Given the description of an element on the screen output the (x, y) to click on. 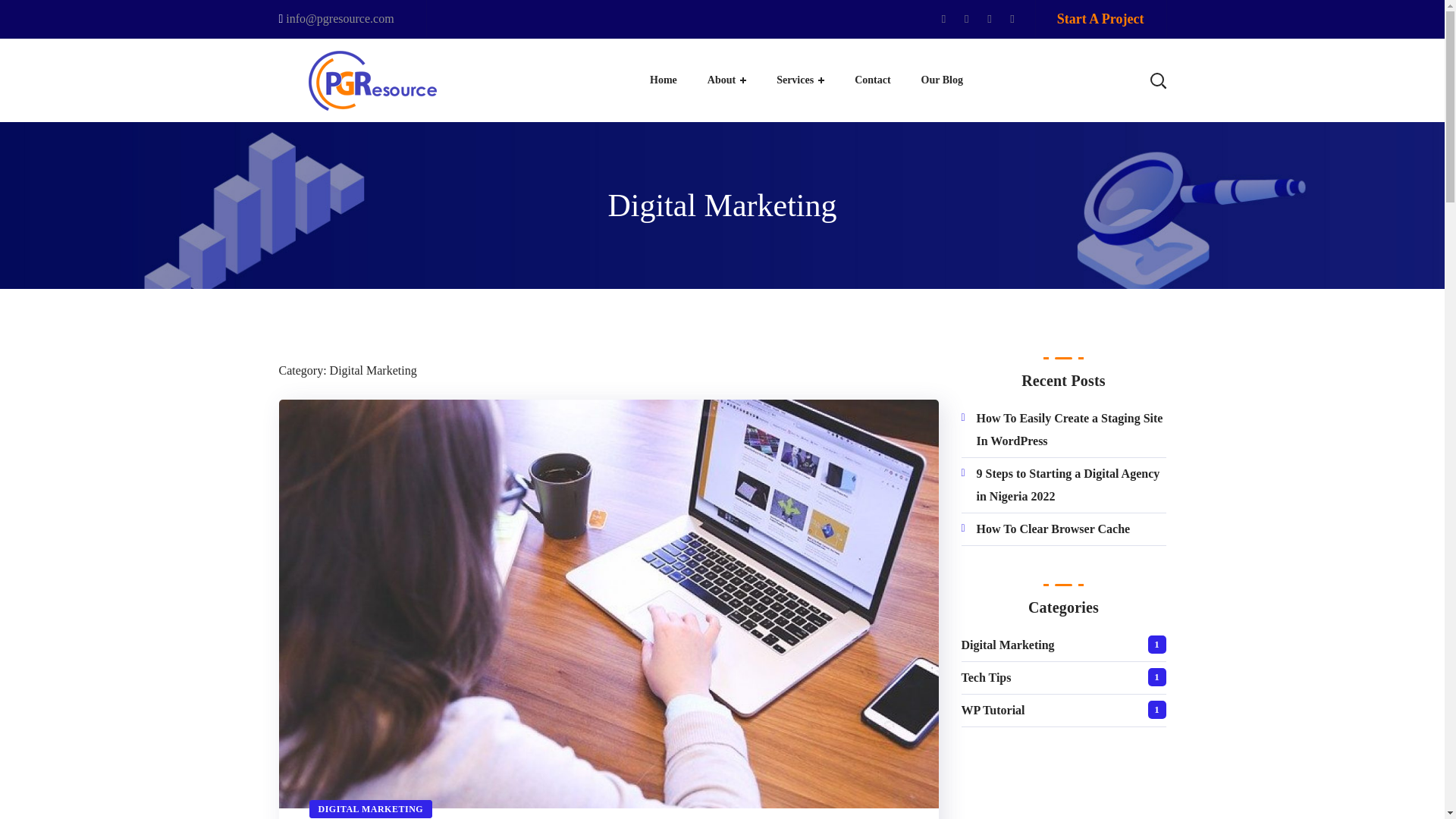
Contact (872, 80)
Search (1110, 152)
Home (663, 80)
Services (800, 80)
Our Blog (941, 80)
About (727, 80)
Start A Project (1100, 19)
Search (1110, 30)
